Given the description of an element on the screen output the (x, y) to click on. 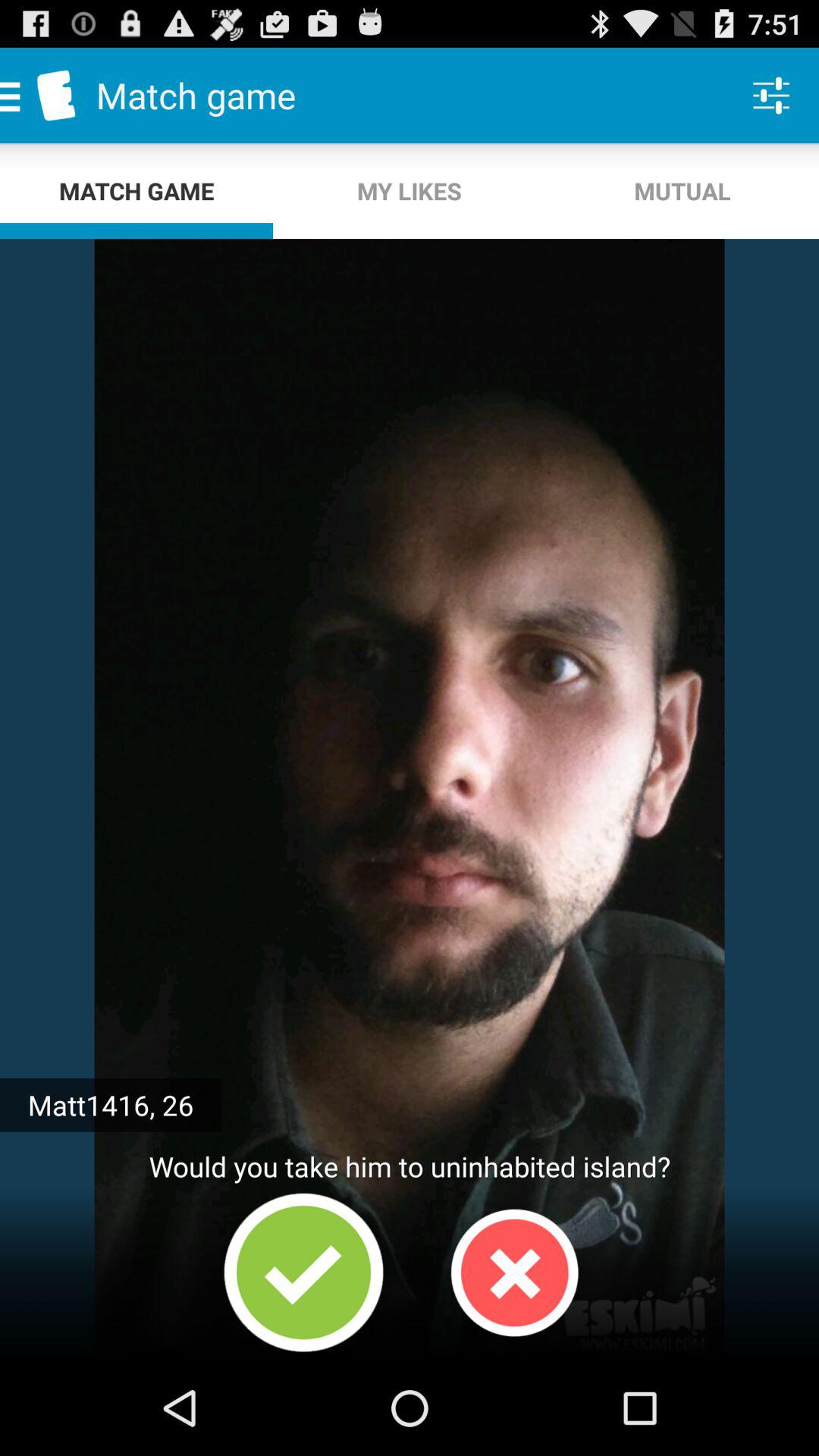
deny (514, 1272)
